Given the description of an element on the screen output the (x, y) to click on. 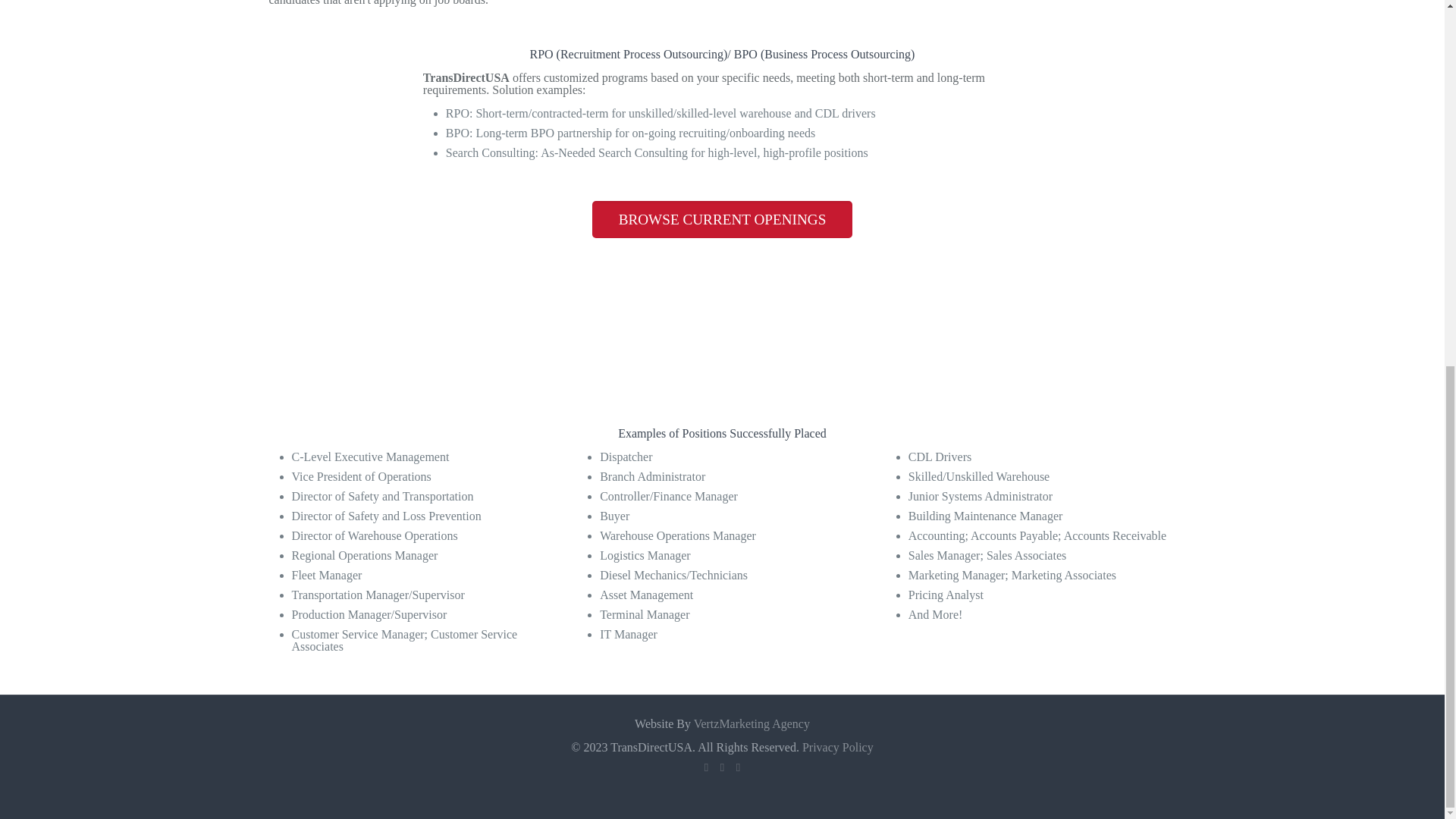
Facebook (705, 767)
BROWSE CURRENT OPENINGS (722, 219)
LinkedIn (738, 767)
VertzMarketing Agency (751, 723)
Privacy Policy (837, 747)
